Given the description of an element on the screen output the (x, y) to click on. 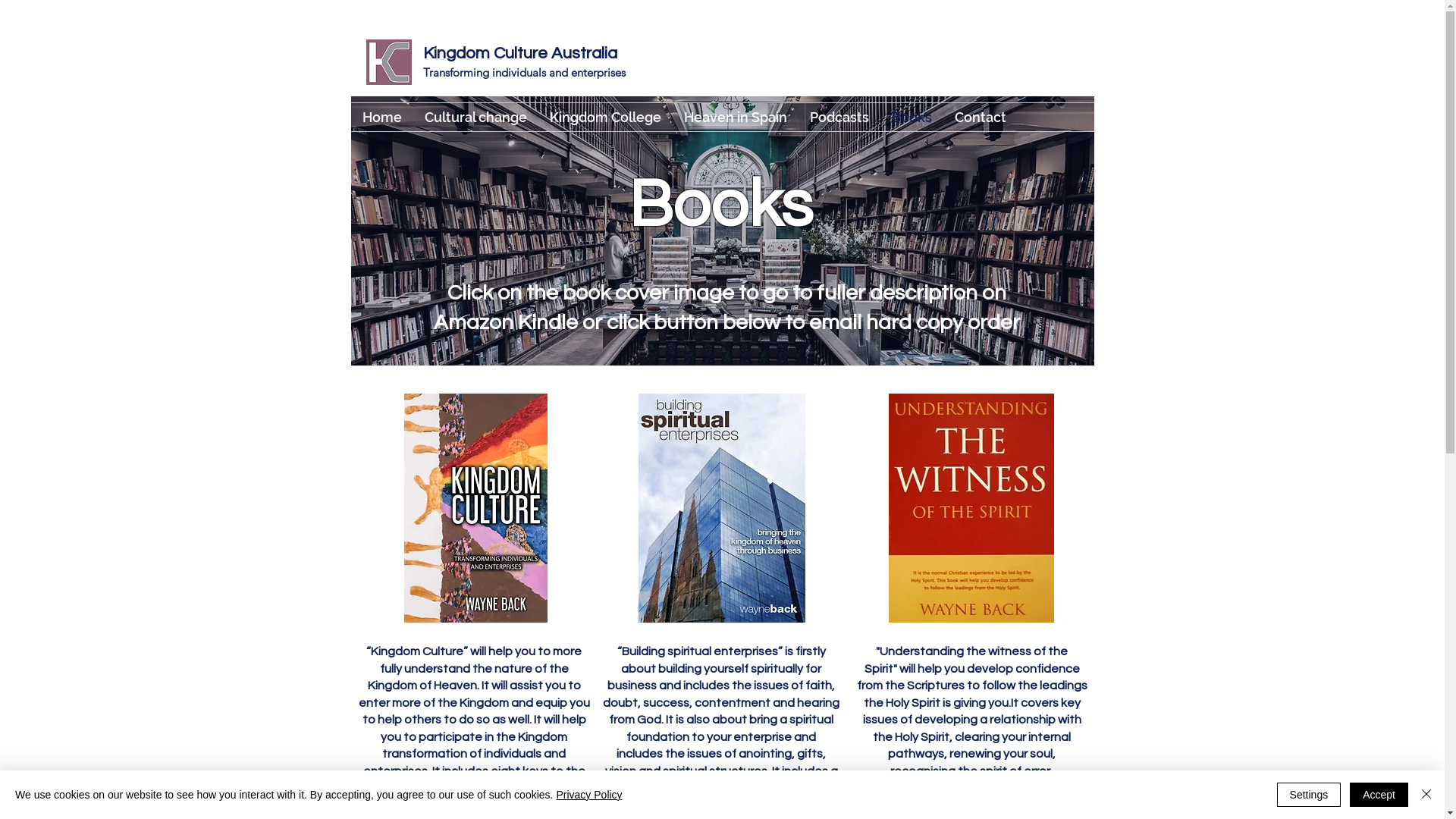
Heaven in Spain Element type: text (734, 117)
Privacy Policy Element type: text (588, 794)
Kingdom College Element type: text (605, 117)
Podcasts Element type: text (838, 117)
Settings Element type: text (1309, 794)
Contact Element type: text (980, 117)
Books Element type: text (910, 117)
Home Element type: text (381, 117)
Accept Element type: text (1378, 794)
Cultural change Element type: text (474, 117)
